Given the description of an element on the screen output the (x, y) to click on. 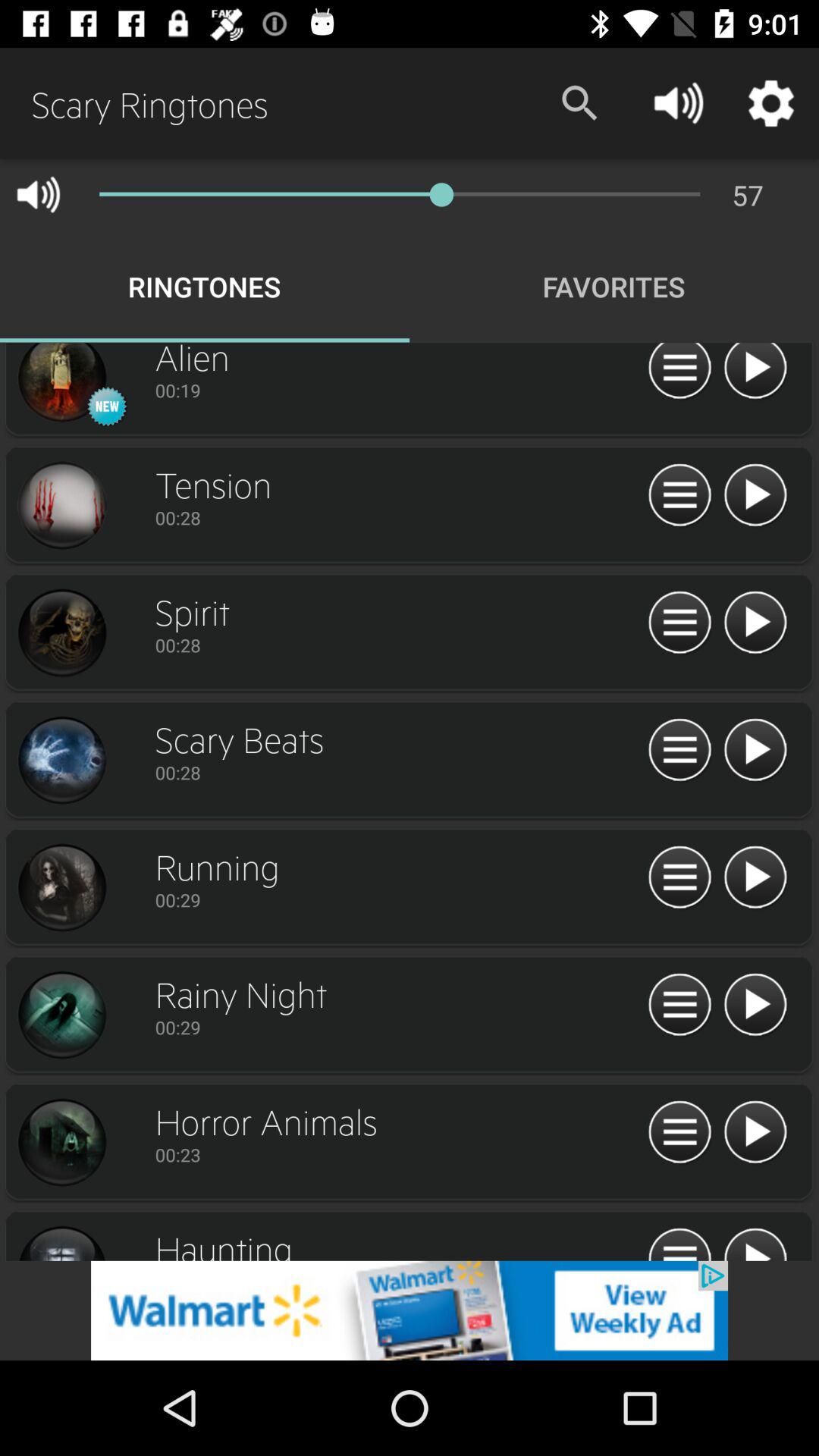
go to next (755, 877)
